Given the description of an element on the screen output the (x, y) to click on. 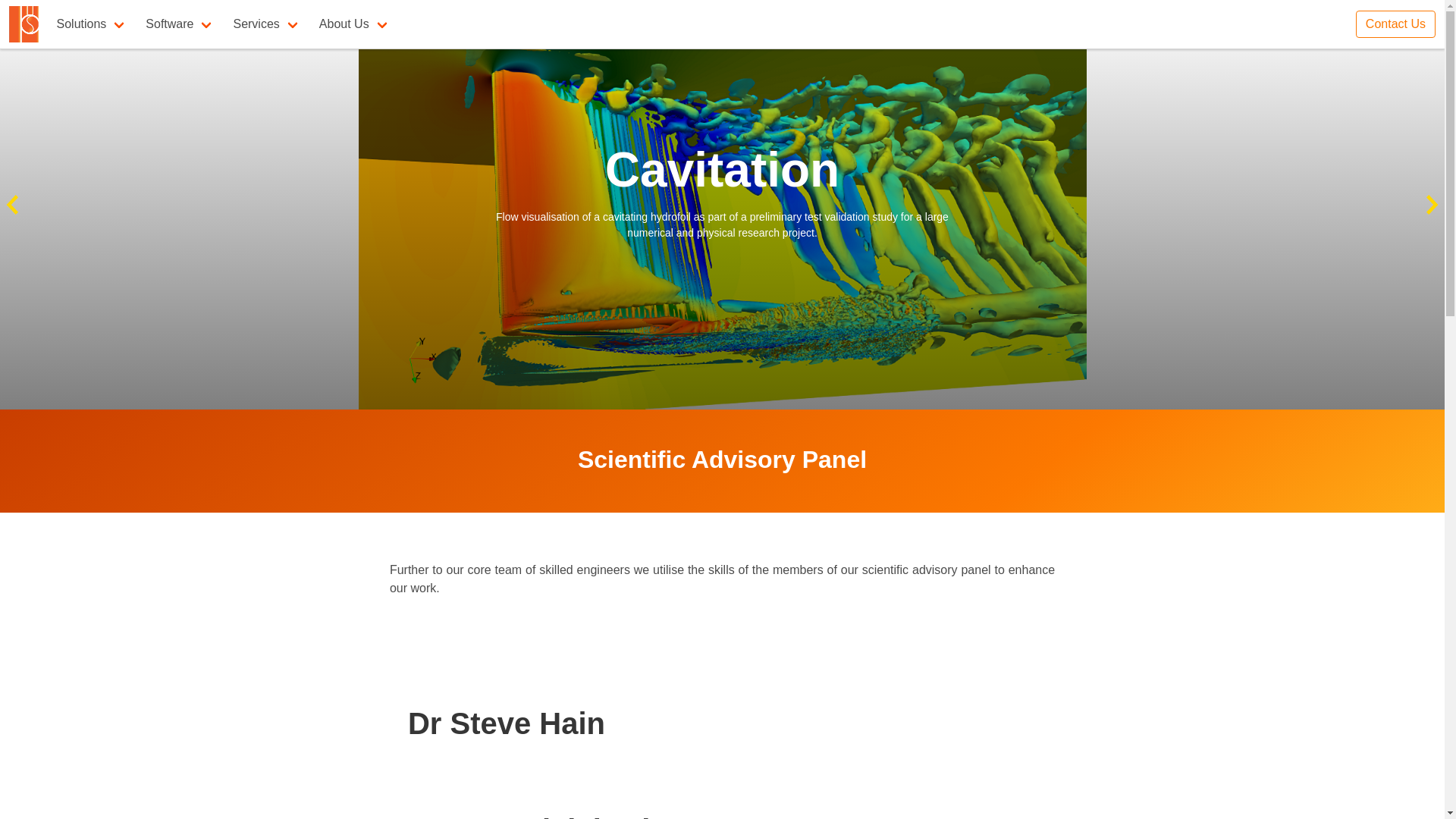
Contact Us Element type: text (1395, 23)
